Given the description of an element on the screen output the (x, y) to click on. 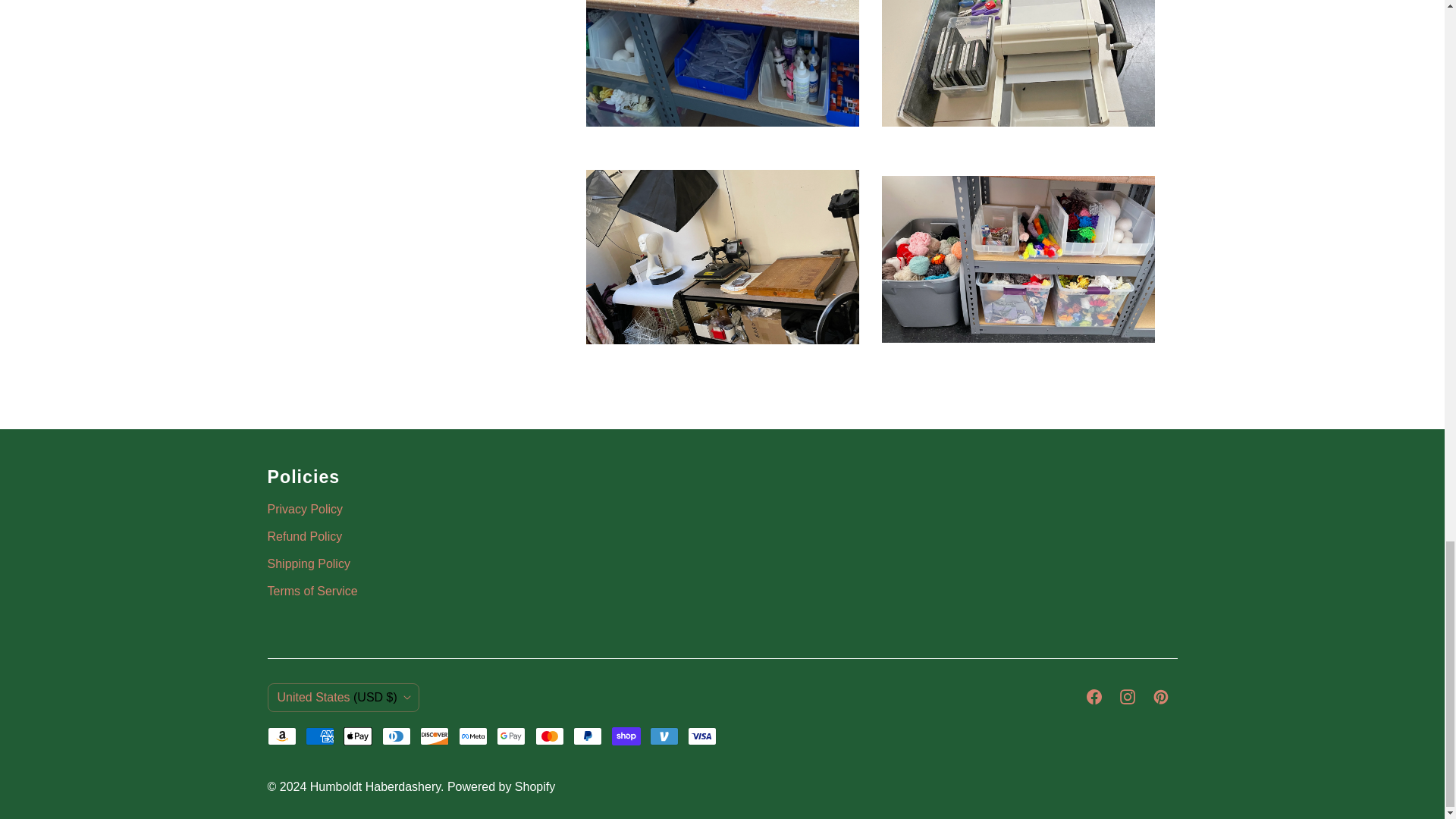
Meta Pay (472, 736)
Visa (701, 736)
Apple Pay (357, 736)
Google Pay (510, 736)
Venmo (663, 736)
PayPal (587, 736)
Shop Pay (625, 736)
Discover (434, 736)
Mastercard (549, 736)
American Express (319, 736)
Diners Club (395, 736)
Amazon (280, 736)
